Given the description of an element on the screen output the (x, y) to click on. 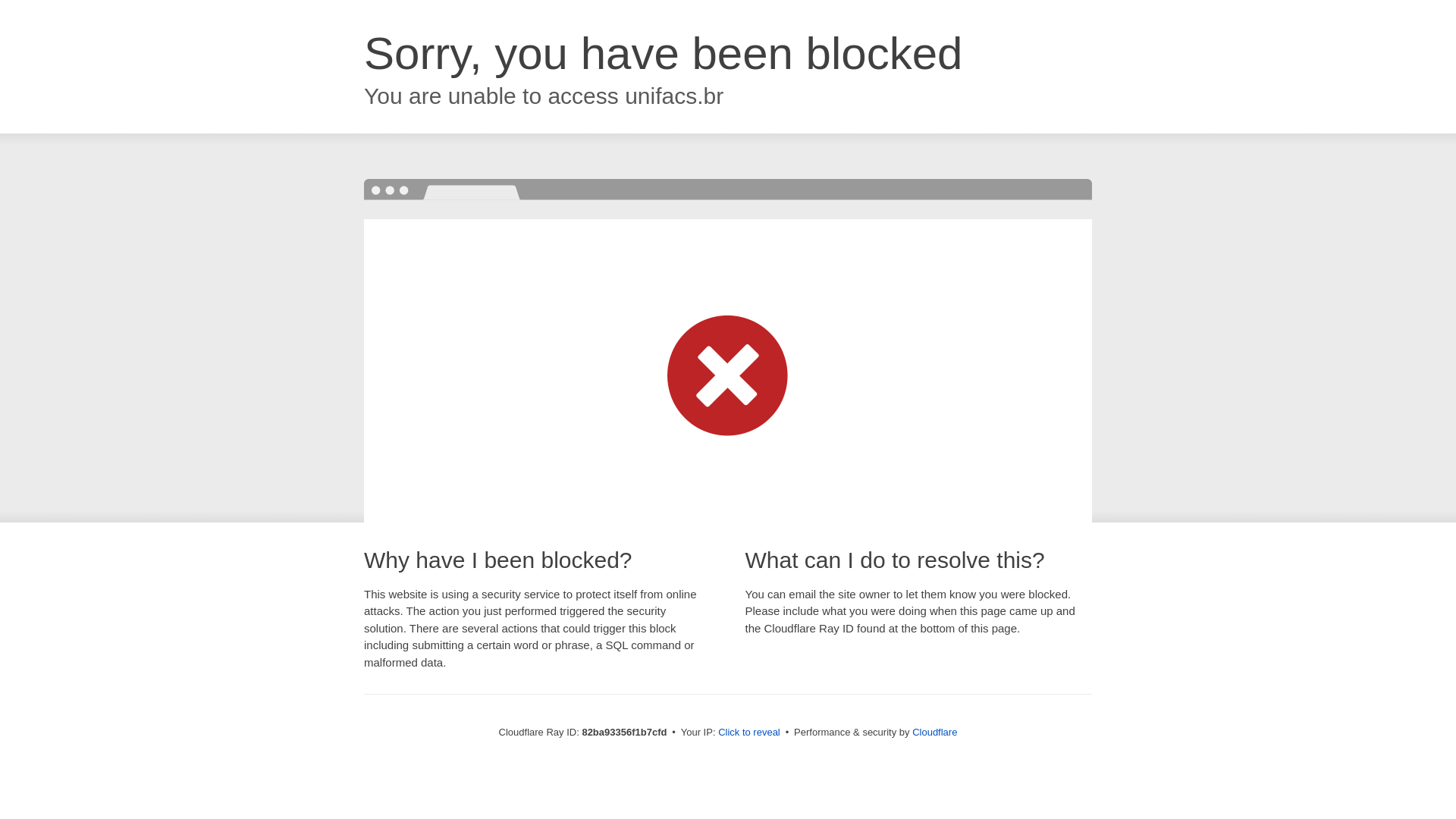
Click to reveal Element type: text (749, 732)
Cloudflare Element type: text (934, 731)
